Given the description of an element on the screen output the (x, y) to click on. 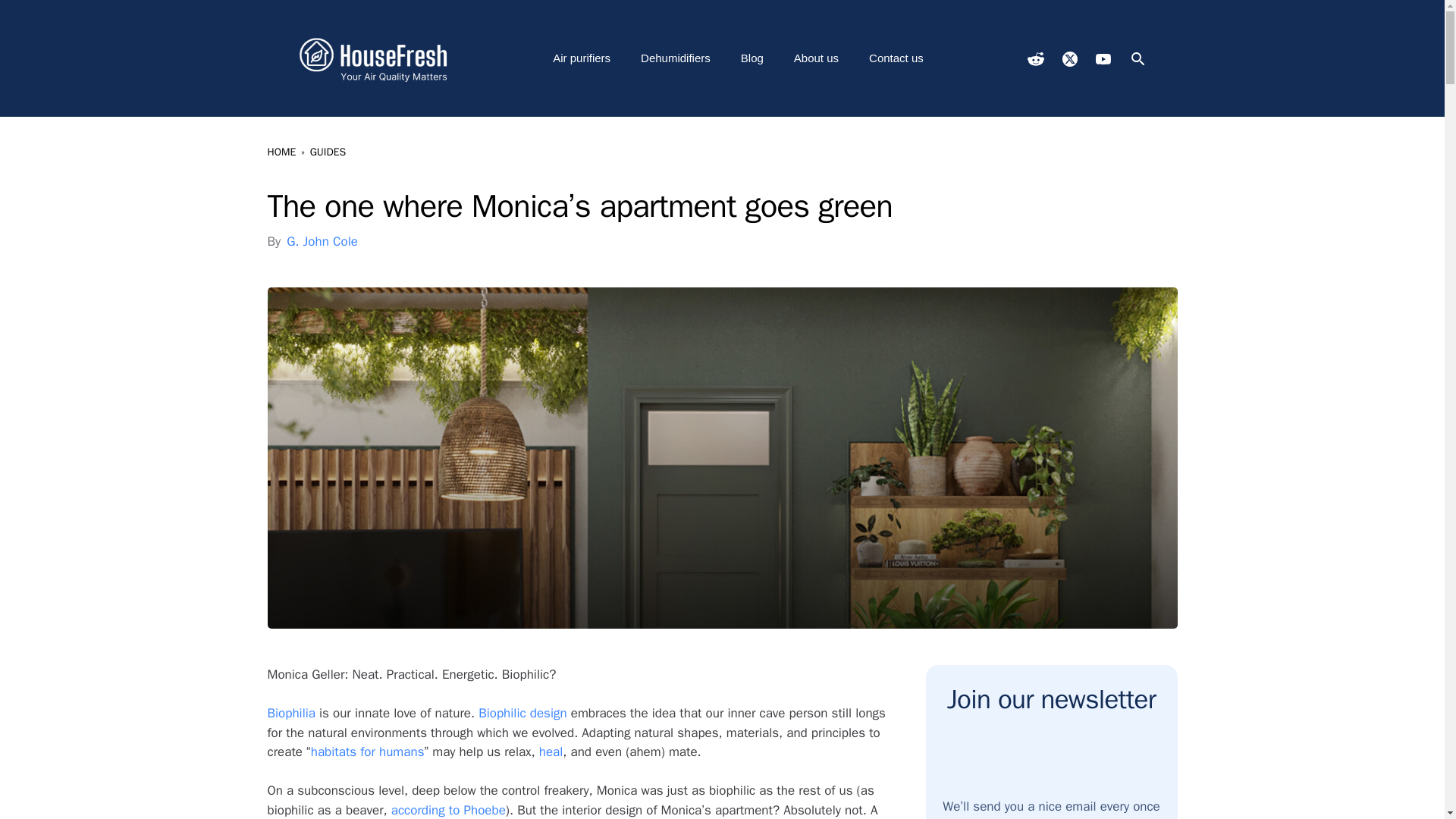
youtube-icon (1101, 58)
Biophilia (290, 713)
IcOutlineSearch-white (1137, 58)
About us (815, 58)
UiwReddit-crop (1034, 58)
HOME (280, 151)
Contact us (896, 58)
GUIDES (328, 151)
G. John Cole (322, 241)
Air purifiers (581, 58)
